Given the description of an element on the screen output the (x, y) to click on. 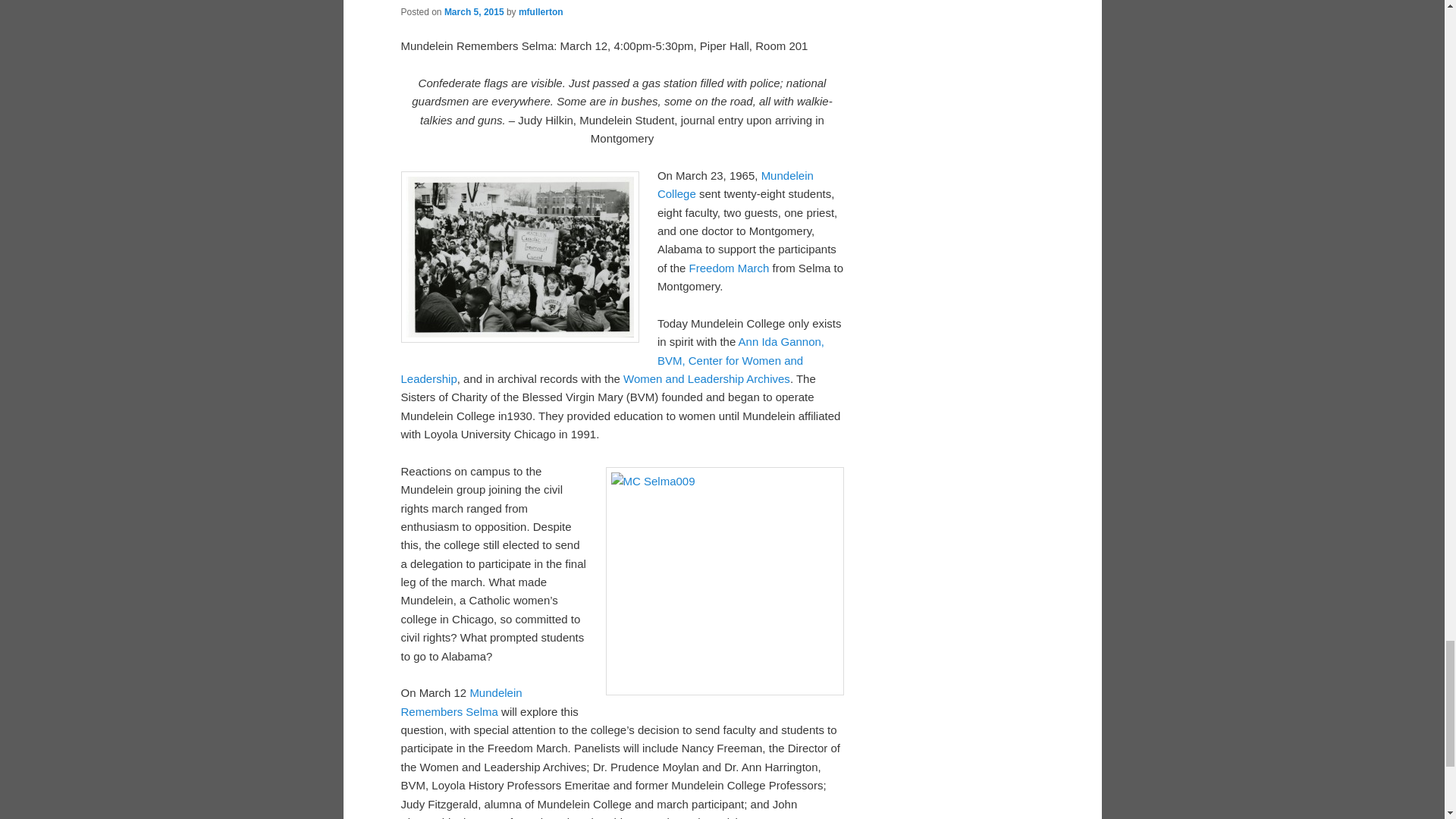
mfullerton (540, 11)
11:00 am (473, 11)
View all posts by mfullerton (540, 11)
March 5, 2015 (473, 11)
